Given the description of an element on the screen output the (x, y) to click on. 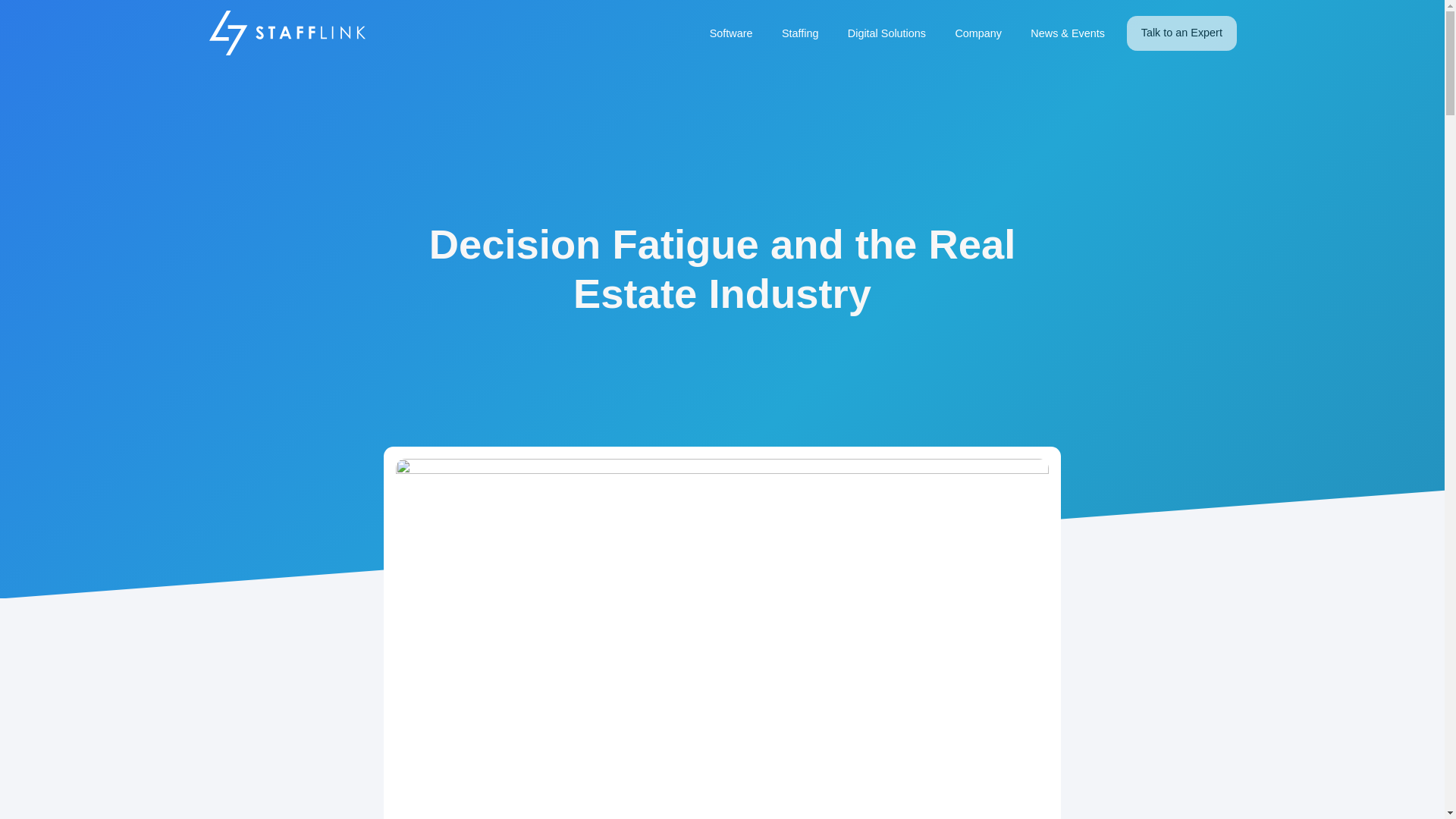
Digital Solutions (886, 33)
Staffing (799, 33)
Software (731, 33)
Staffing (799, 33)
Company (978, 33)
Digital Solutions (886, 33)
Software (731, 33)
Talk to an Expert (1181, 32)
